Given the description of an element on the screen output the (x, y) to click on. 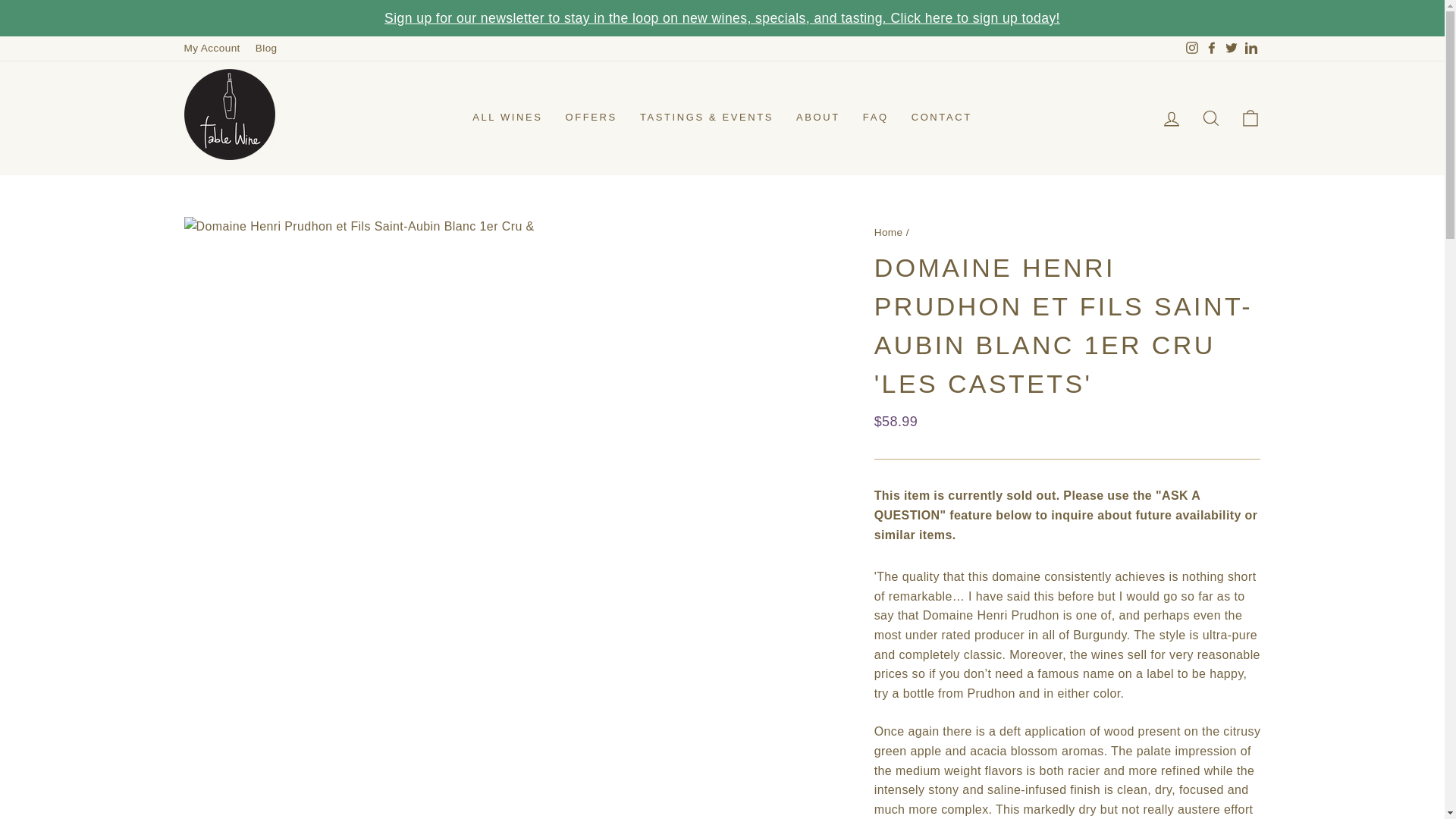
Back to the frontpage (888, 232)
